Given the description of an element on the screen output the (x, y) to click on. 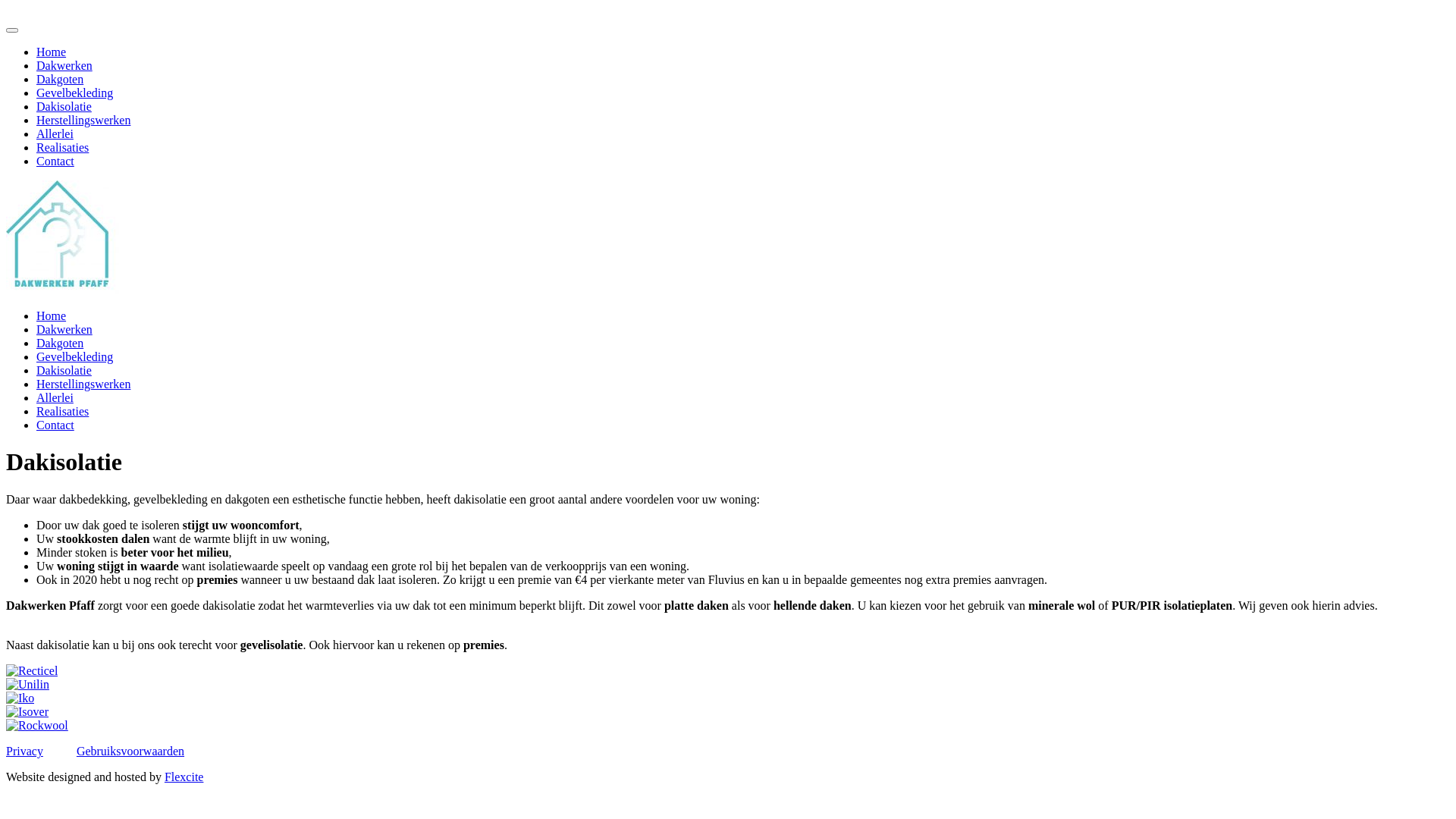
Allerlei Element type: text (54, 133)
Dakgoten Element type: text (59, 342)
Herstellingswerken Element type: text (83, 383)
Dakgoten Element type: text (59, 78)
Dakisolatie Element type: text (63, 106)
Gevelbekleding Element type: text (74, 92)
Contact Element type: text (55, 160)
Dakwerken Element type: text (64, 65)
Dakisolatie Element type: text (63, 370)
Contact Element type: text (55, 424)
Flexcite Element type: text (183, 776)
Dakwerken Element type: text (64, 329)
Herstellingswerken Element type: text (83, 119)
Gebruiksvoorwaarden Element type: text (130, 750)
Privacy Element type: text (24, 750)
Home Element type: text (50, 51)
Realisaties Element type: text (62, 147)
Gevelbekleding Element type: text (74, 356)
Home Element type: text (50, 315)
Allerlei Element type: text (54, 397)
Realisaties Element type: text (62, 410)
